Given the description of an element on the screen output the (x, y) to click on. 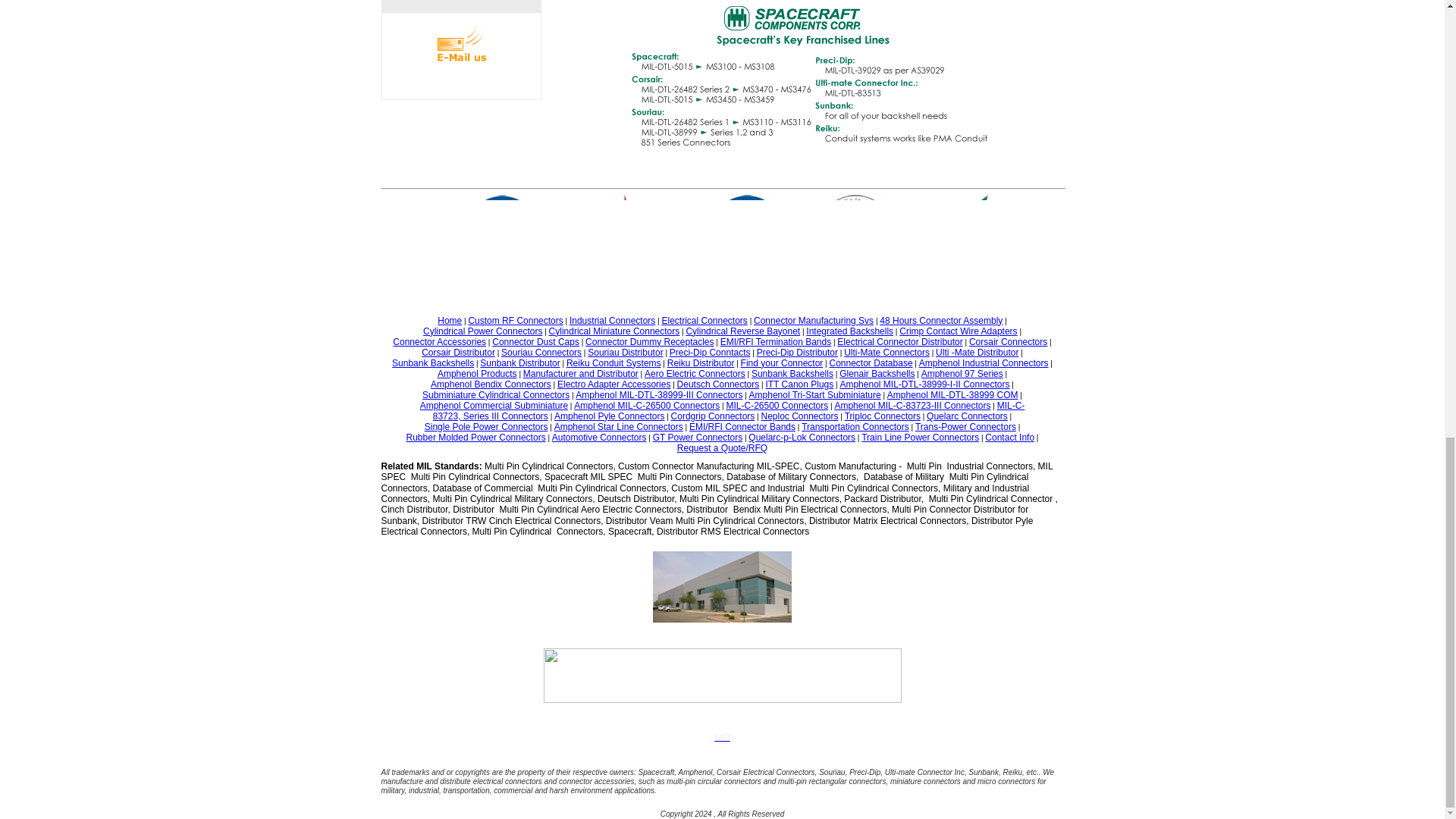
Integrated Backshells (849, 330)
Cylindrical Power Connectors (482, 330)
Electrical Connectors (703, 320)
Home (449, 320)
Industrial Connectors (612, 320)
Connector Manufacturing Svs (813, 320)
48 Hours Connector Assembly (941, 320)
Custom RF Connectors (514, 320)
Cylindrical Miniature Connectors (613, 330)
Crimp Contact Wire Adapters (957, 330)
